Given the description of an element on the screen output the (x, y) to click on. 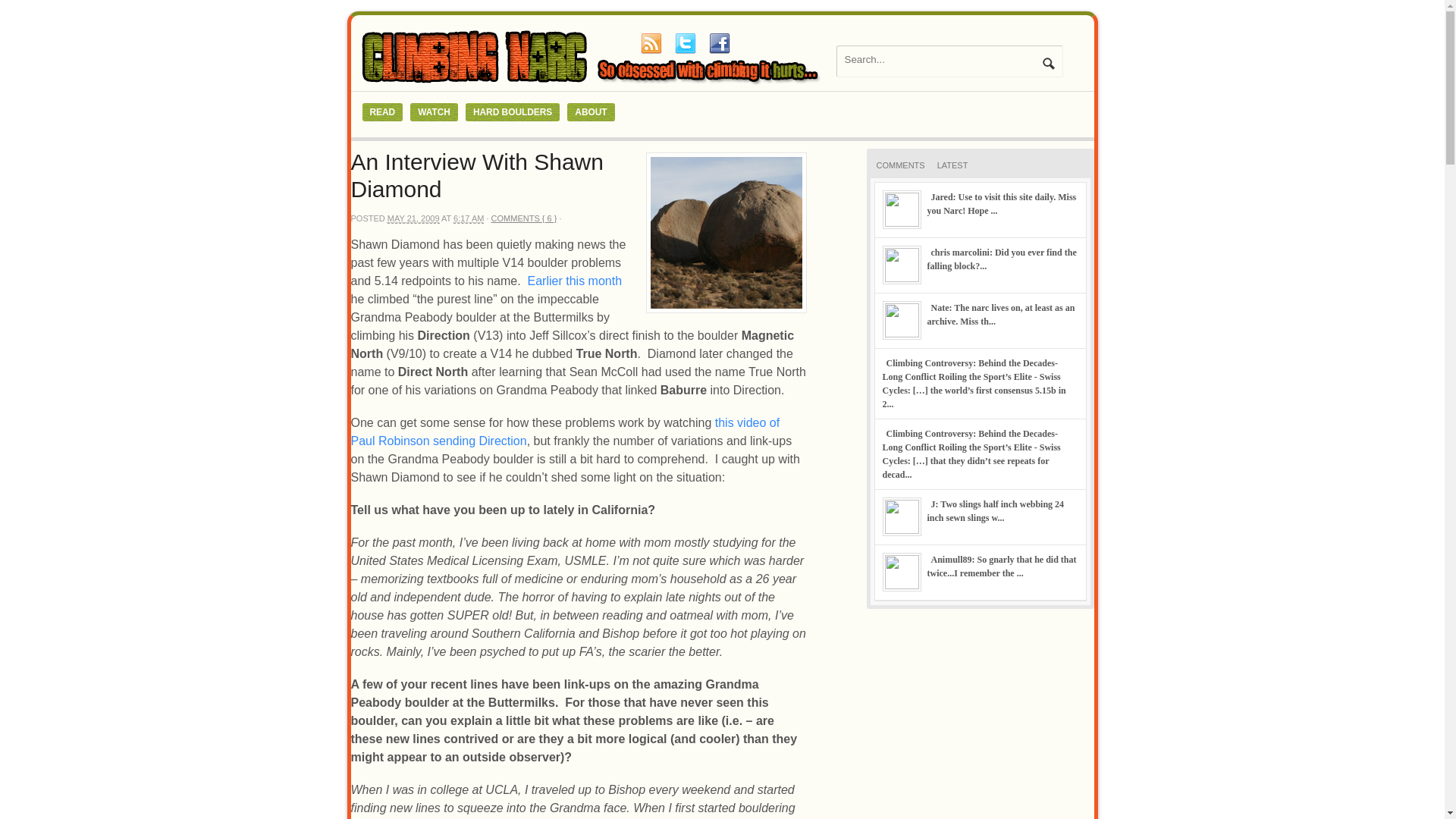
READ (382, 112)
Subscribe to our RSS feed (650, 43)
Connect on Facebook (718, 43)
Earlier this month (575, 280)
Go (1048, 63)
ABOUT (590, 112)
Search... (940, 58)
this video of Paul Robinson sending Direction (564, 431)
HARD BOULDERS (512, 112)
An Interview With Shawn Diamond (476, 175)
